Given the description of an element on the screen output the (x, y) to click on. 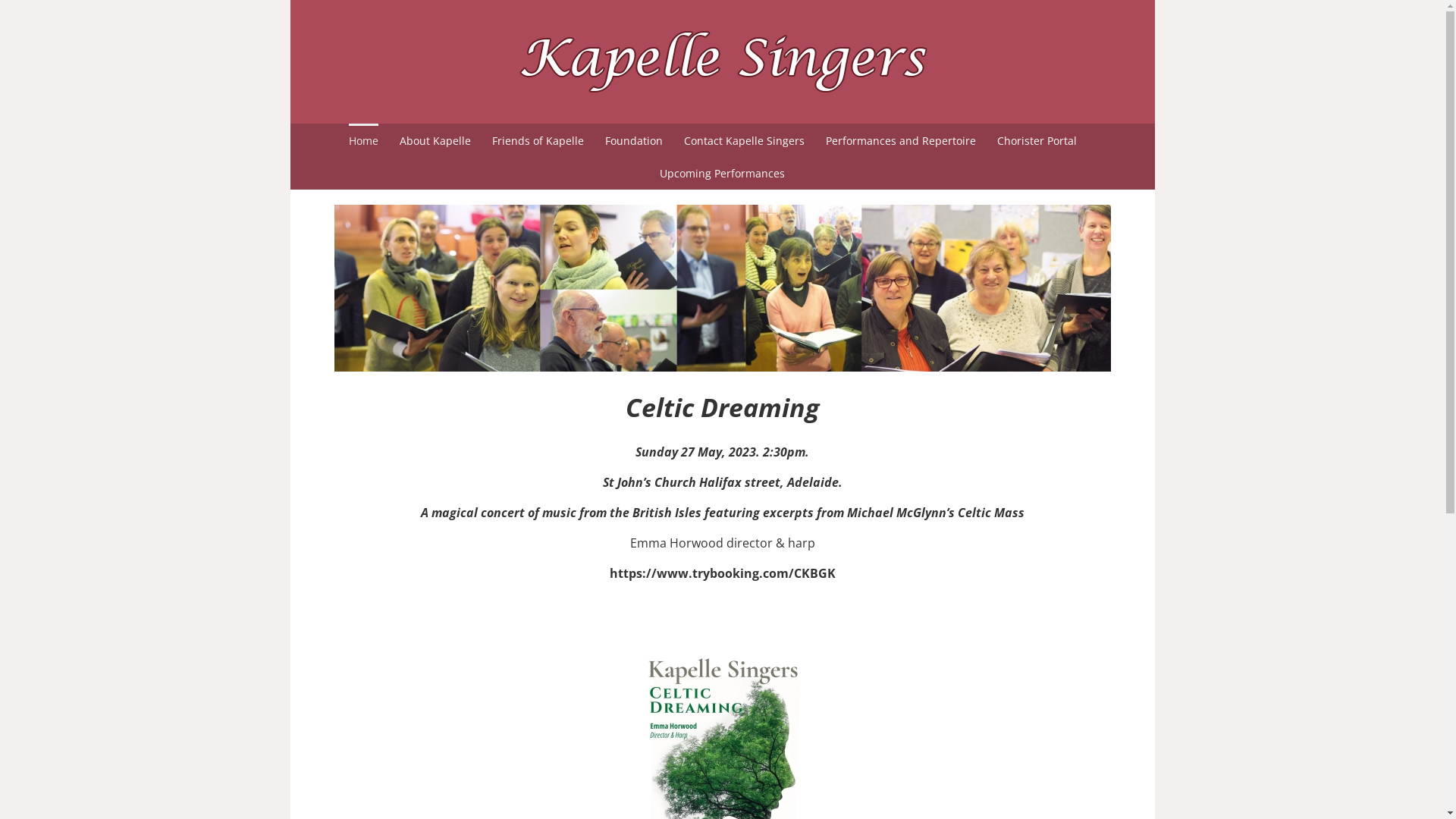
Chorister Portal Element type: text (1036, 139)
About Kapelle Element type: text (434, 139)
Contact Kapelle Singers Element type: text (744, 139)
Friends of Kapelle Element type: text (537, 139)
Upcoming Performances Element type: text (721, 172)
Performances and Repertoire Element type: text (900, 139)
Home Element type: text (363, 139)
https://www.trybooking.com/CKBGK Element type: text (722, 572)
Foundation Element type: text (633, 139)
